Given the description of an element on the screen output the (x, y) to click on. 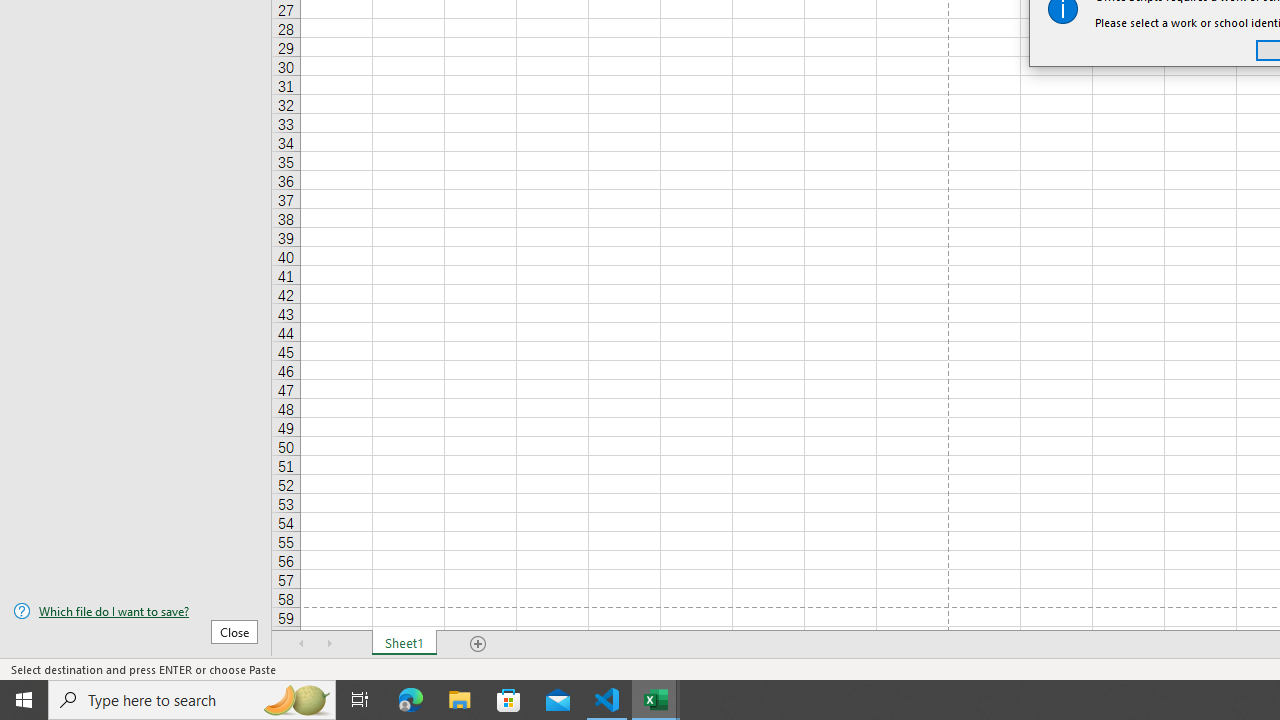
Visual Studio Code - 1 running window (607, 699)
Excel - 2 running windows (656, 699)
Search highlights icon opens search home window (295, 699)
Microsoft Store (509, 699)
Task View (359, 699)
Type here to search (191, 699)
Microsoft Edge (411, 699)
File Explorer (460, 699)
